Given the description of an element on the screen output the (x, y) to click on. 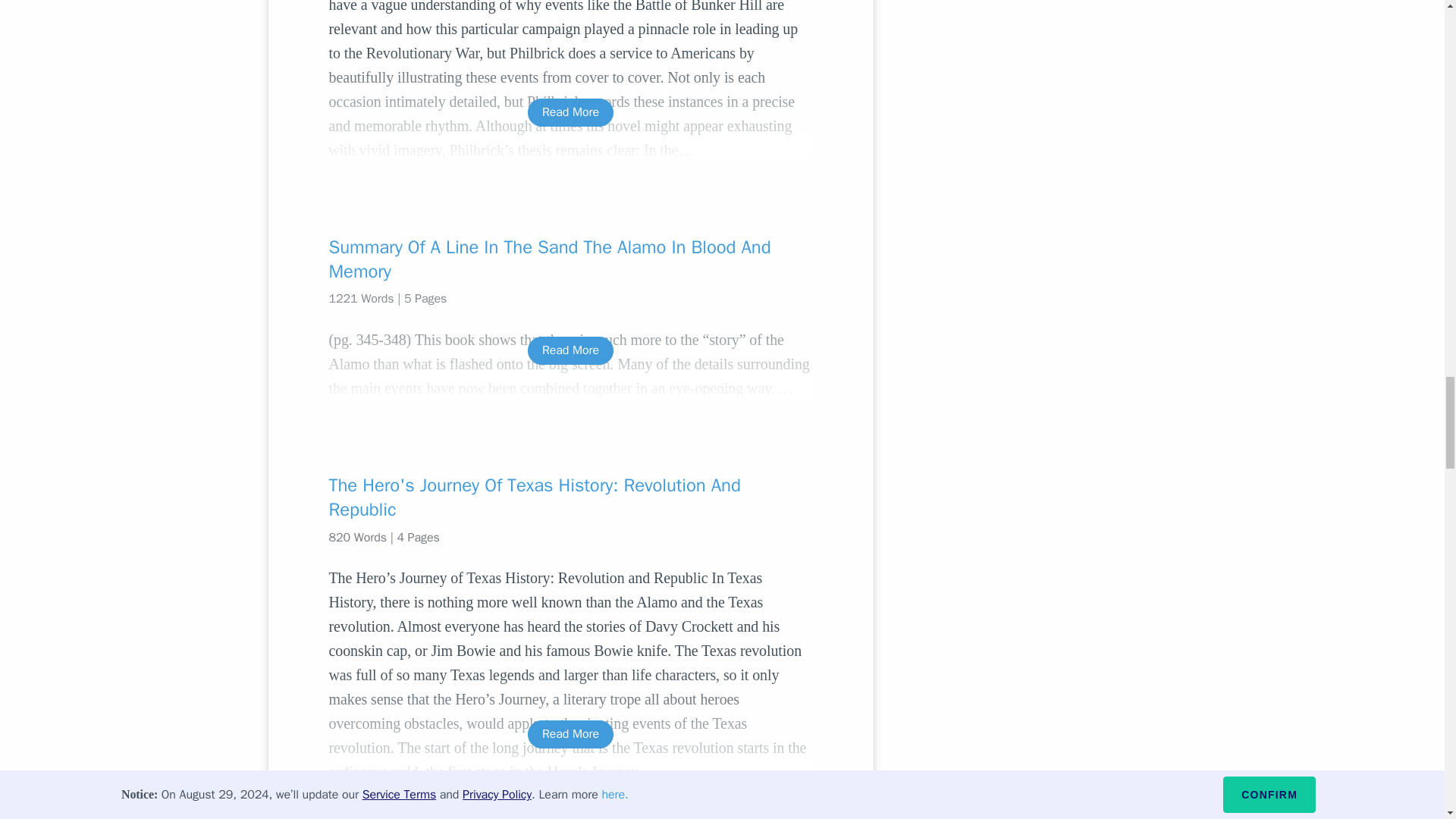
Read More (569, 112)
Summary Of A Line In The Sand The Alamo In Blood And Memory (570, 259)
Read More (569, 734)
The Hero's Journey Of Texas History: Revolution And Republic (570, 497)
Read More (569, 350)
